Given the description of an element on the screen output the (x, y) to click on. 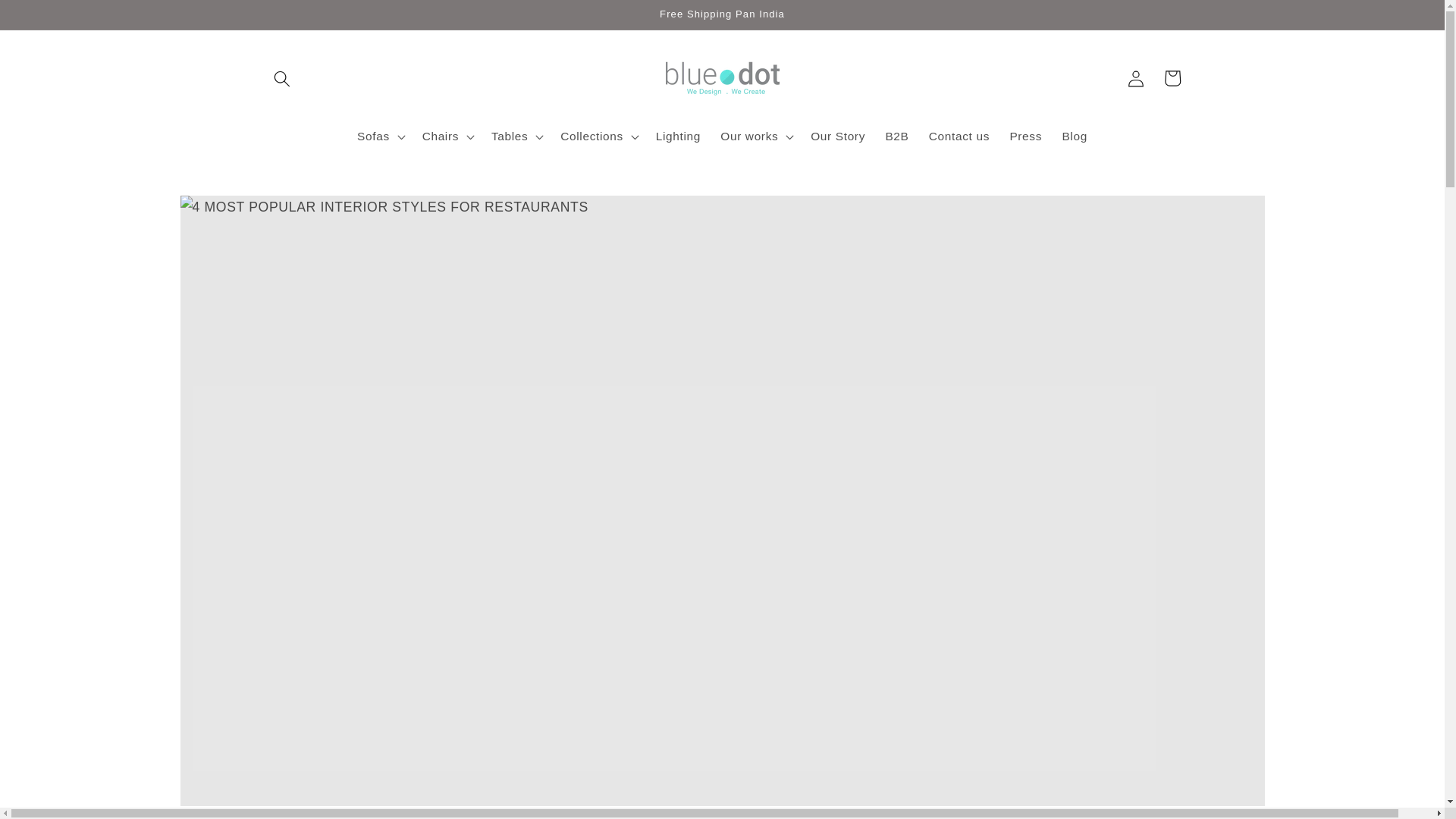
Skip to content (49, 18)
